Given the description of an element on the screen output the (x, y) to click on. 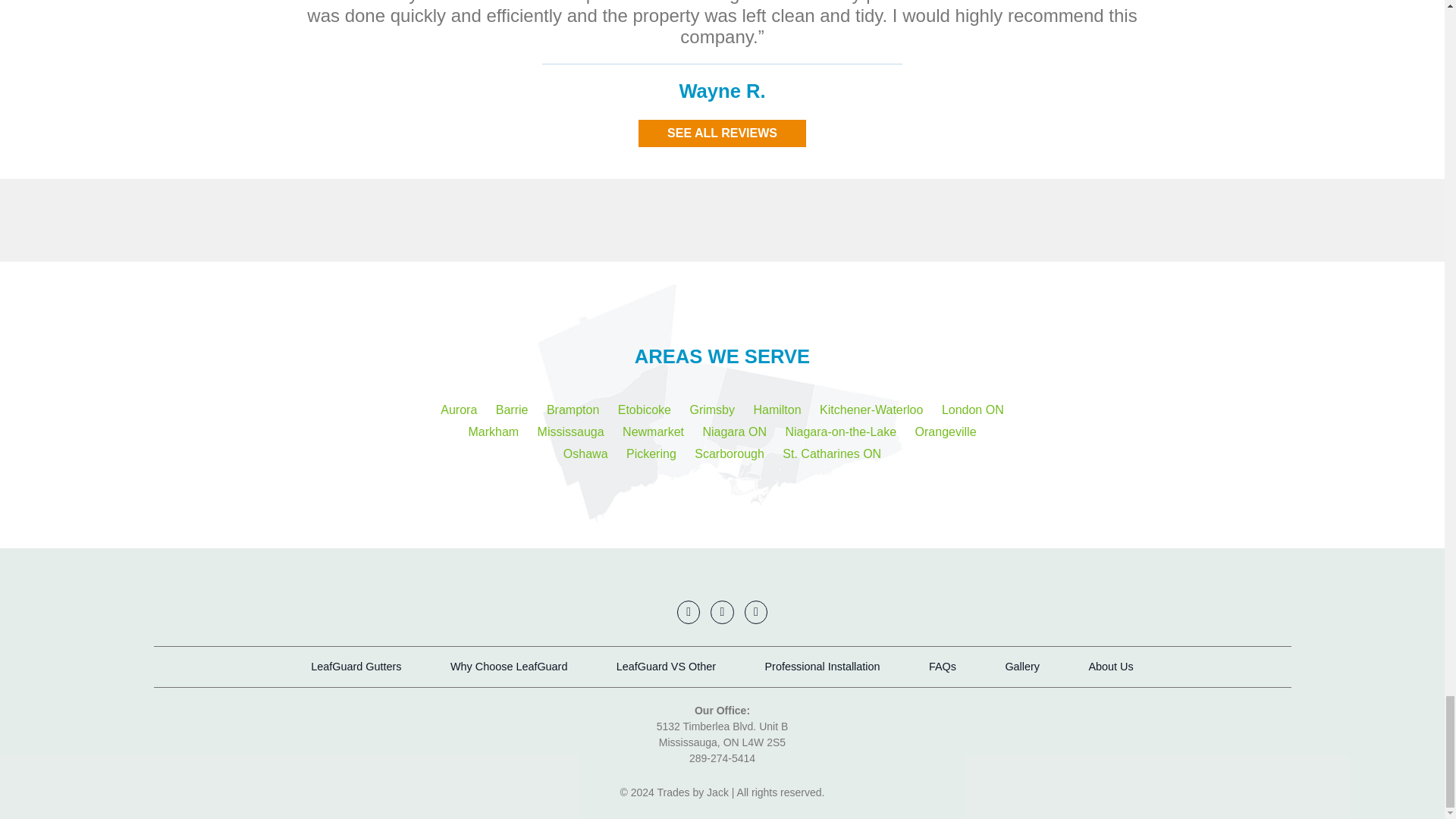
Instagram (755, 611)
YouTube (688, 611)
Facebook (721, 611)
